Given the description of an element on the screen output the (x, y) to click on. 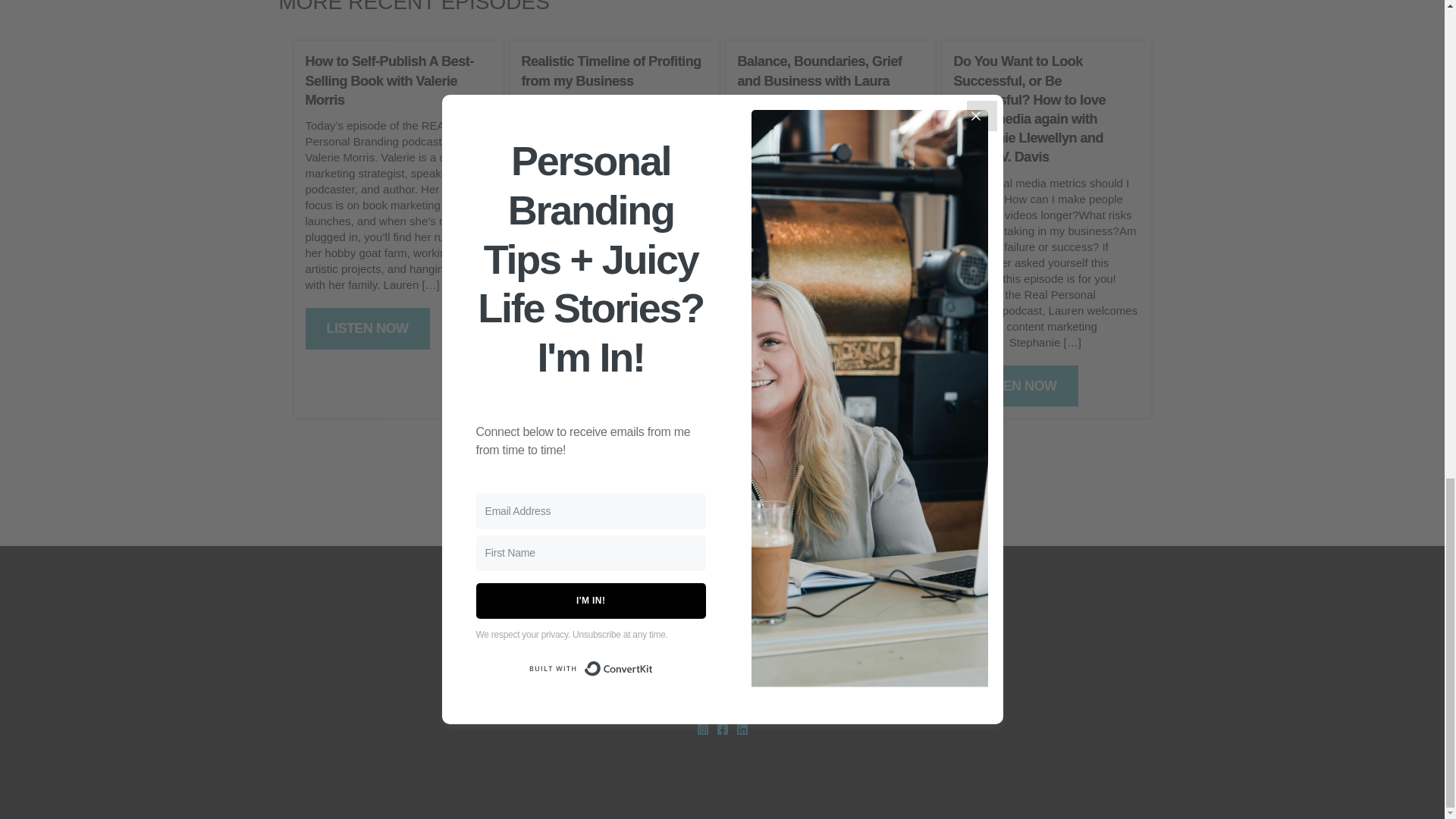
laurendaviscreative.com  (722, 697)
LISTEN NOW (798, 389)
LISTEN NOW (366, 328)
LISTEN NOW (1015, 386)
19 (797, 455)
LISTEN NOW (583, 293)
